Given the description of an element on the screen output the (x, y) to click on. 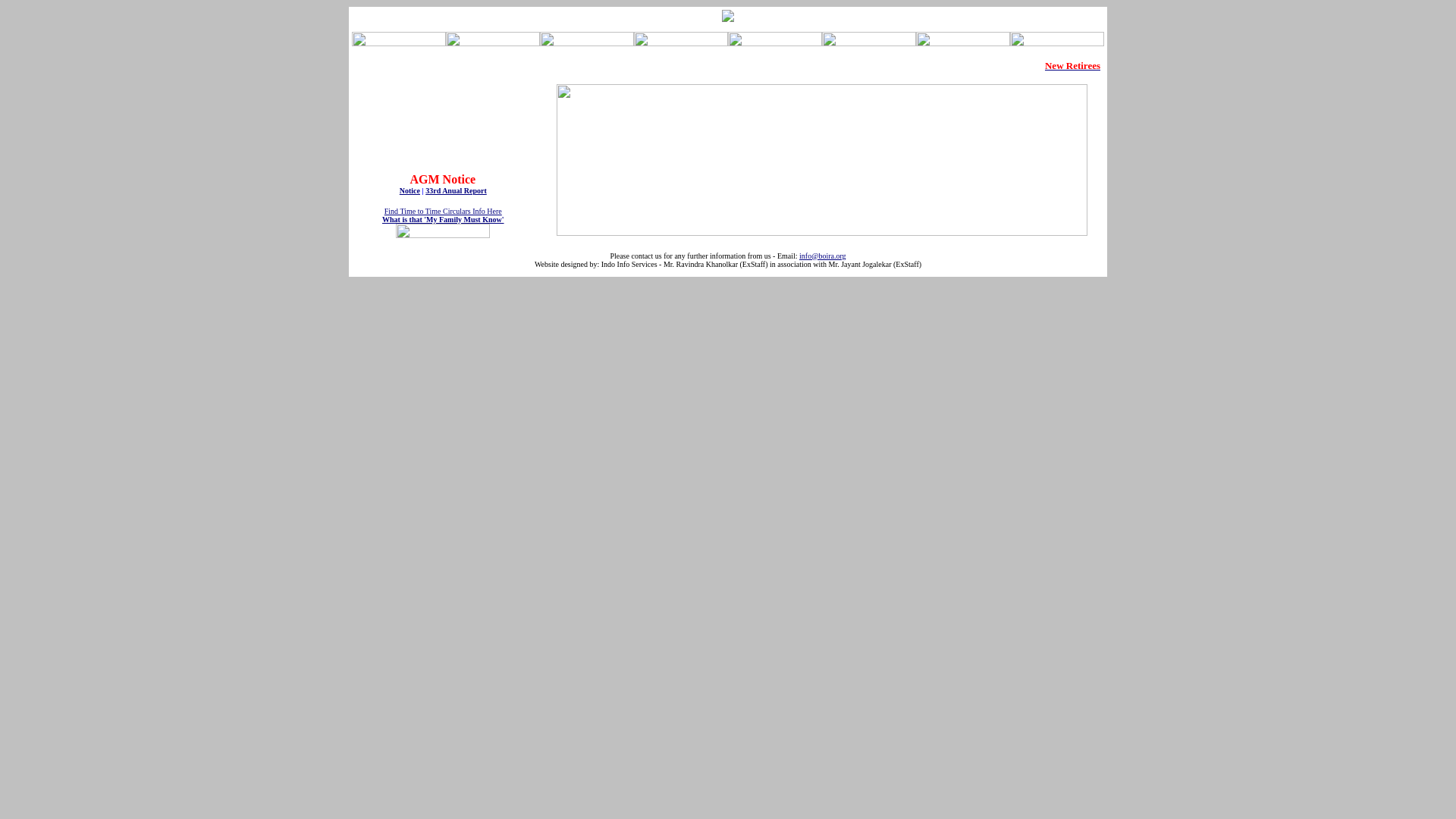
Notice (409, 190)
Find Time to Time Circulars Info Here (443, 211)
What is that 'My Family Must Know' (442, 225)
33rd Anual Report (455, 190)
New Retirees (1072, 65)
